Given the description of an element on the screen output the (x, y) to click on. 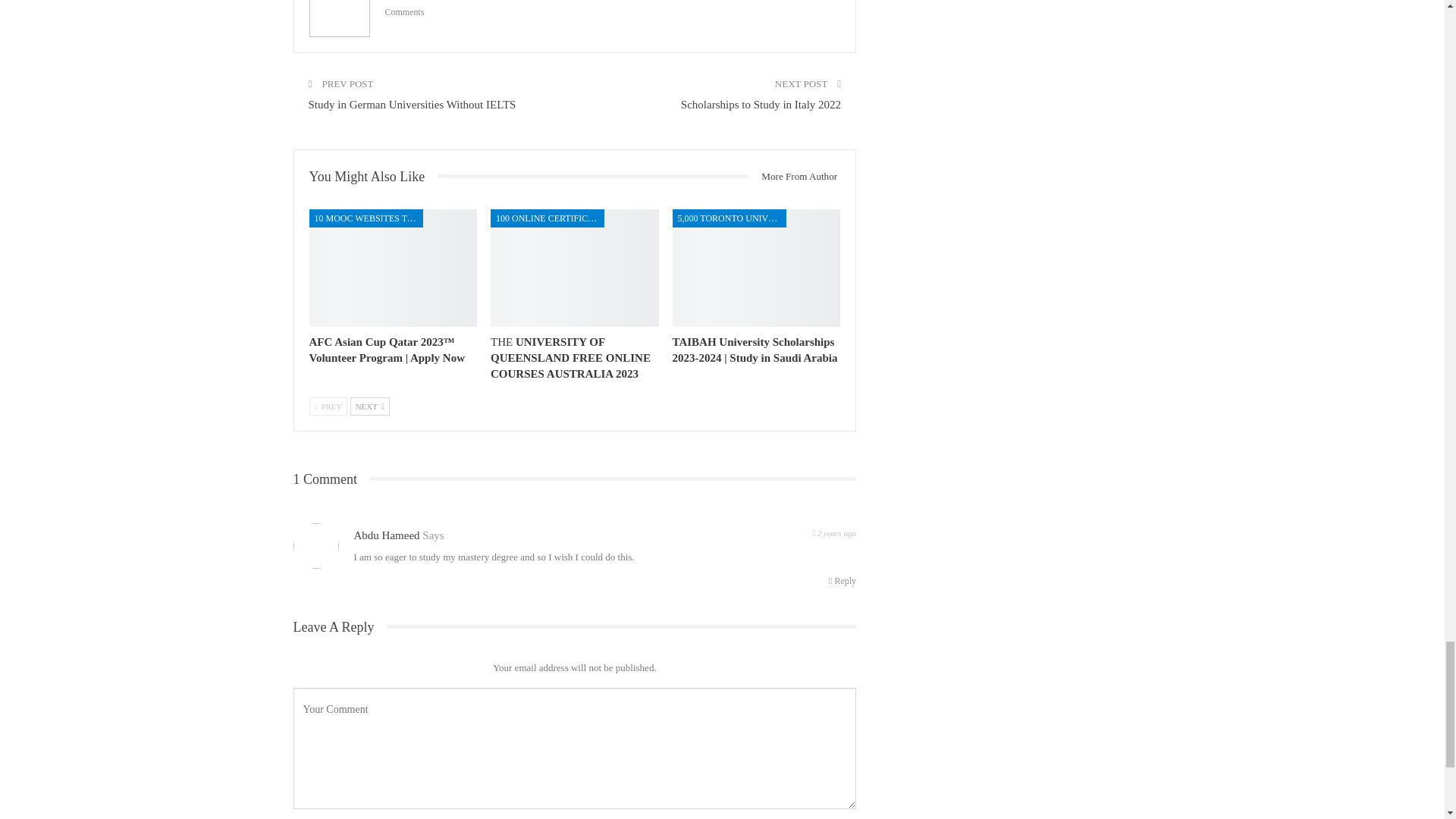
Next (370, 406)
Previous (327, 406)
Wednesday, April 13, 2022, 11:28 pm (834, 531)
